Given the description of an element on the screen output the (x, y) to click on. 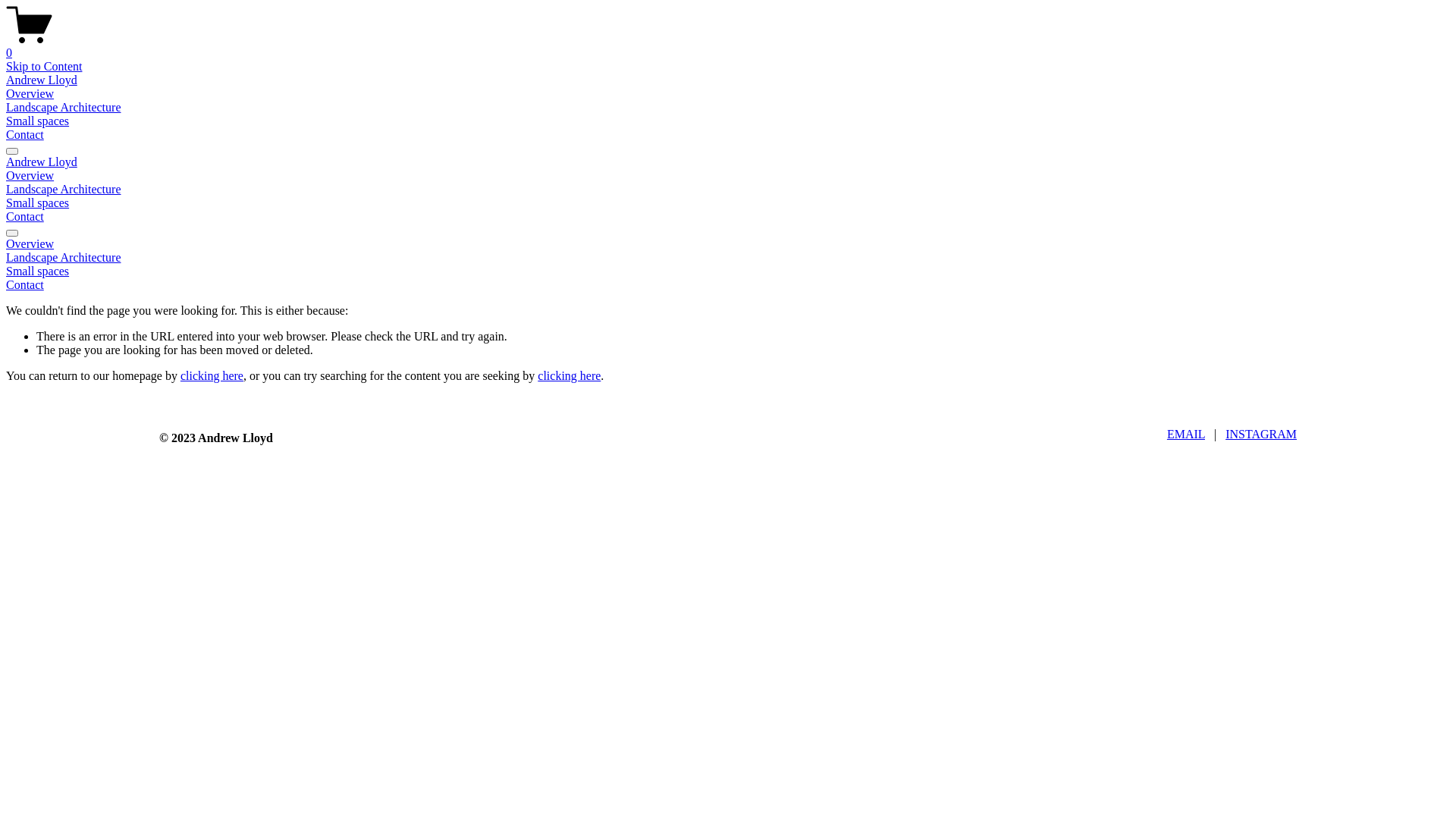
Landscape Architecture Element type: text (63, 106)
Contact Element type: text (24, 216)
Landscape Architecture Element type: text (63, 188)
Andrew Lloyd Element type: text (41, 79)
clicking here Element type: text (568, 375)
Overview Element type: text (727, 244)
0 Element type: text (727, 45)
Overview Element type: text (29, 93)
Skip to Content Element type: text (43, 65)
INSTAGRAM Element type: text (1260, 433)
Andrew Lloyd Element type: text (41, 161)
Landscape Architecture Element type: text (727, 257)
clicking here Element type: text (211, 375)
Small spaces Element type: text (37, 202)
EMAIL Element type: text (1185, 433)
Overview Element type: text (29, 175)
Contact Element type: text (24, 134)
Small spaces Element type: text (37, 120)
Small spaces Element type: text (727, 271)
Contact Element type: text (727, 284)
